Given the description of an element on the screen output the (x, y) to click on. 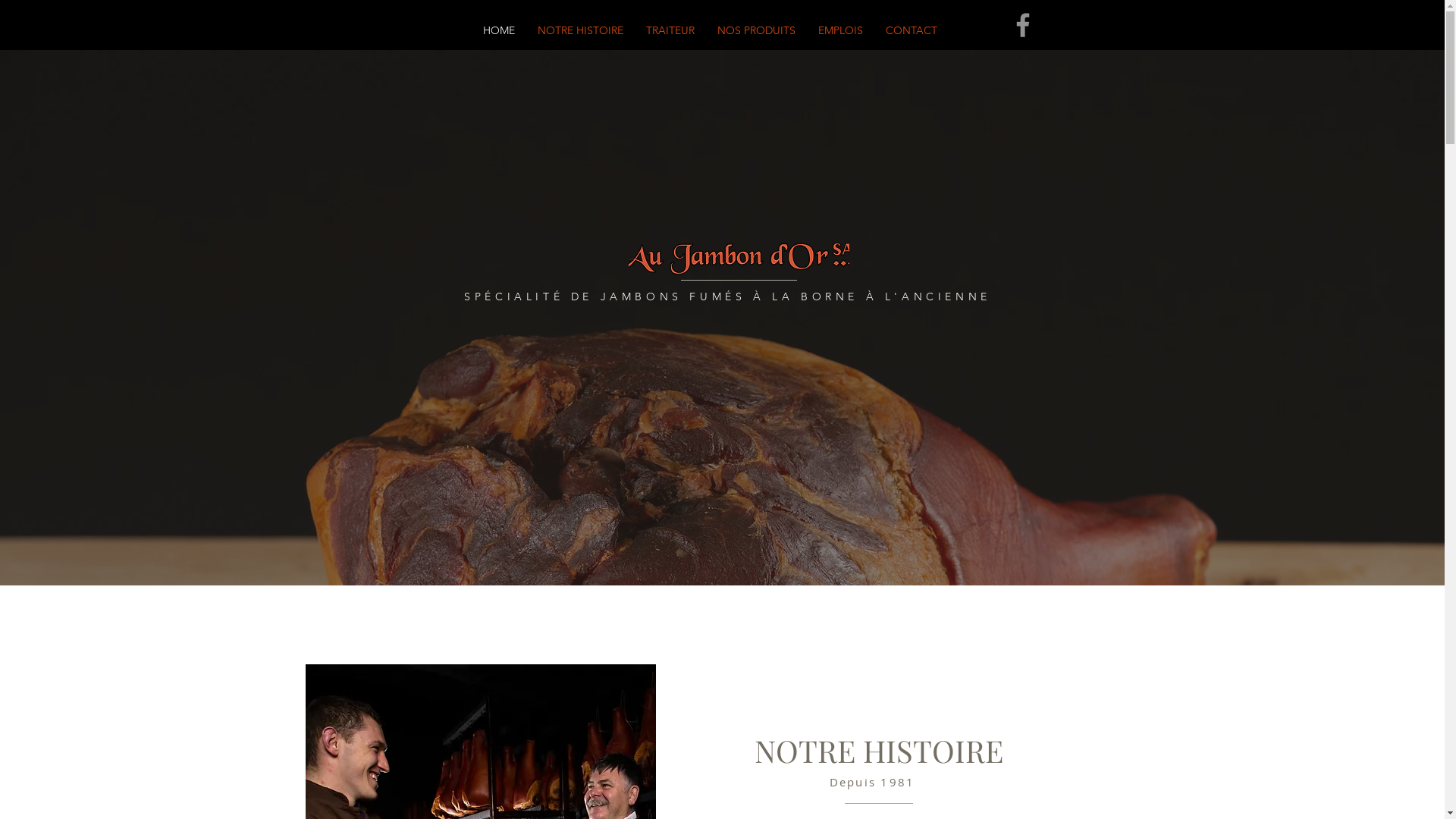
TRAITEUR Element type: text (669, 30)
HOME Element type: text (498, 30)
CONTACT Element type: text (910, 30)
NOS PRODUITS Element type: text (755, 30)
EMPLOIS Element type: text (840, 30)
NOTRE HISTOIRE Element type: text (580, 30)
